Given the description of an element on the screen output the (x, y) to click on. 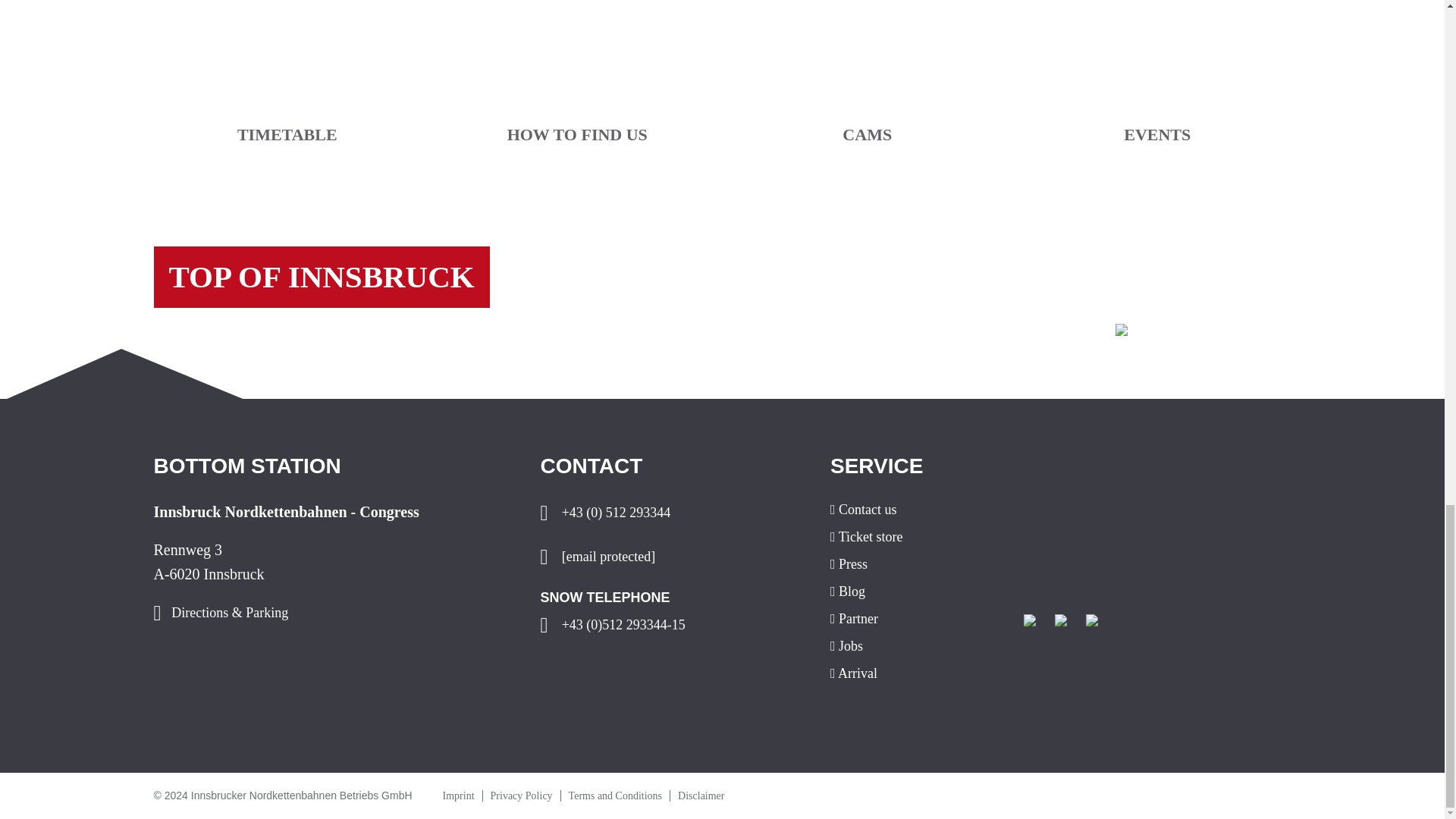
Ticket store (915, 537)
Contact us (915, 509)
Press (915, 564)
